Given the description of an element on the screen output the (x, y) to click on. 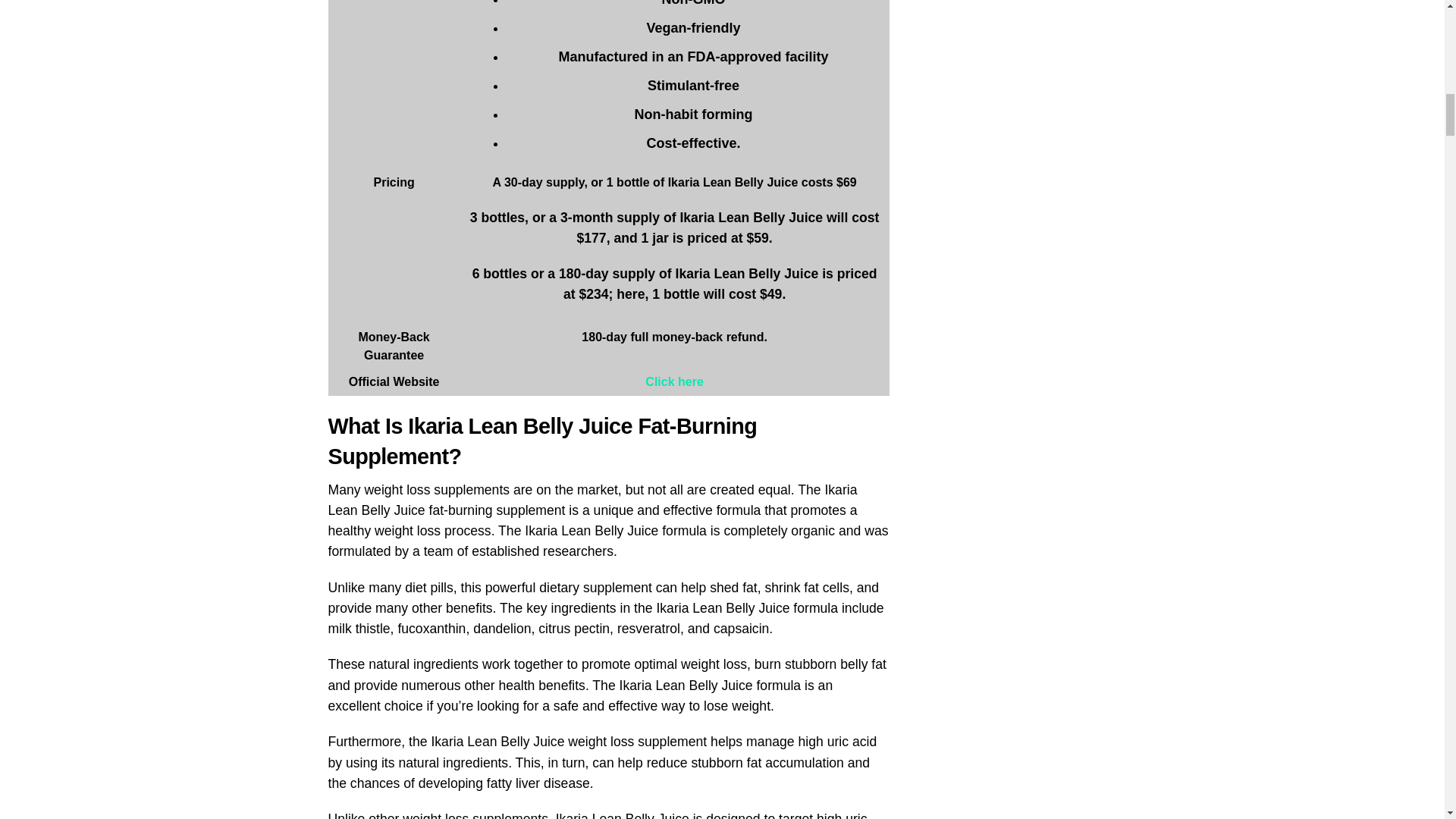
Click here (674, 381)
